Given the description of an element on the screen output the (x, y) to click on. 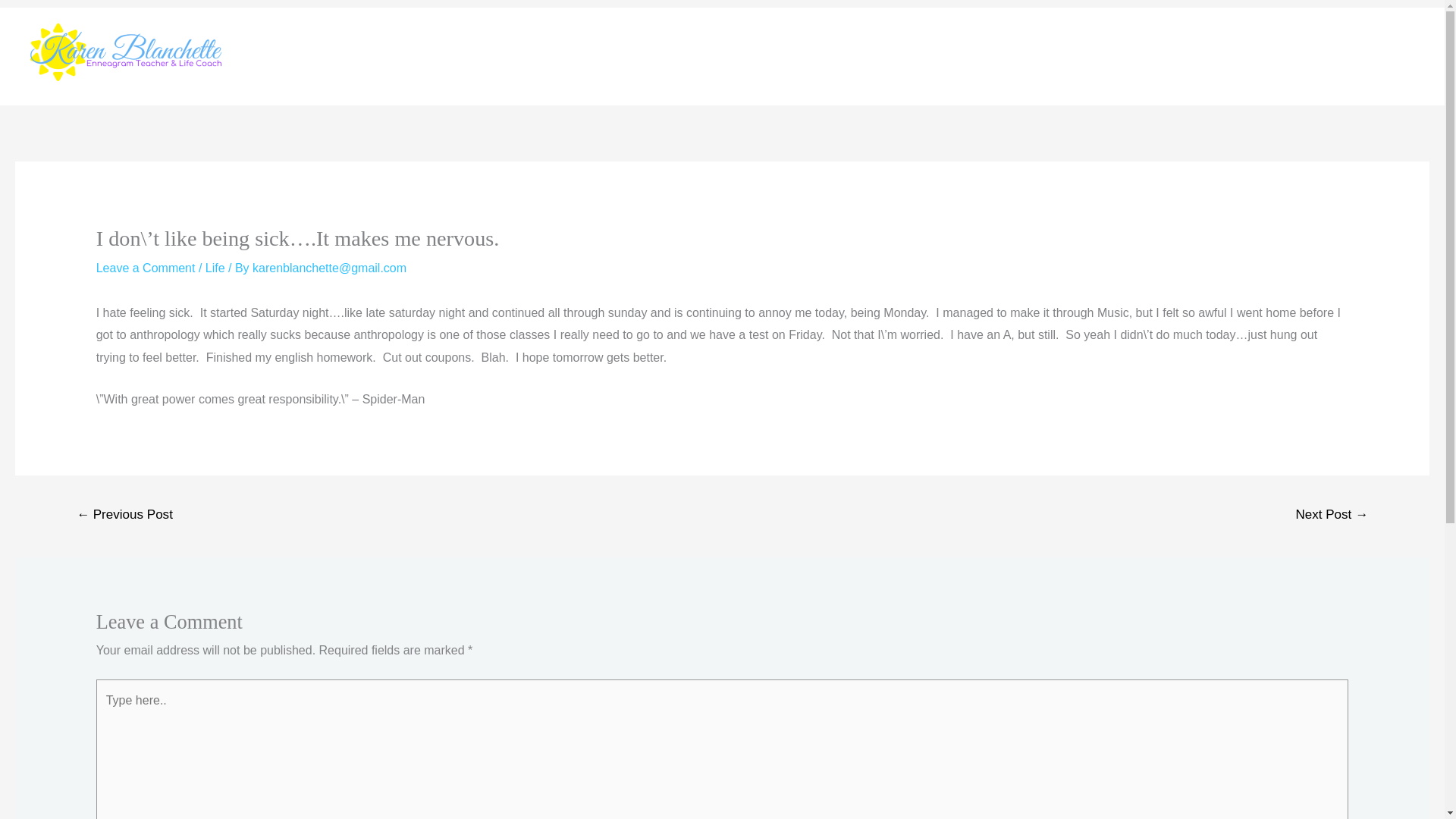
Life (215, 267)
Leave a Comment (145, 267)
PERSONAL BLOG (1366, 55)
ABOUT (1187, 55)
HOME (1123, 55)
CONTACT (1260, 55)
